Given the description of an element on the screen output the (x, y) to click on. 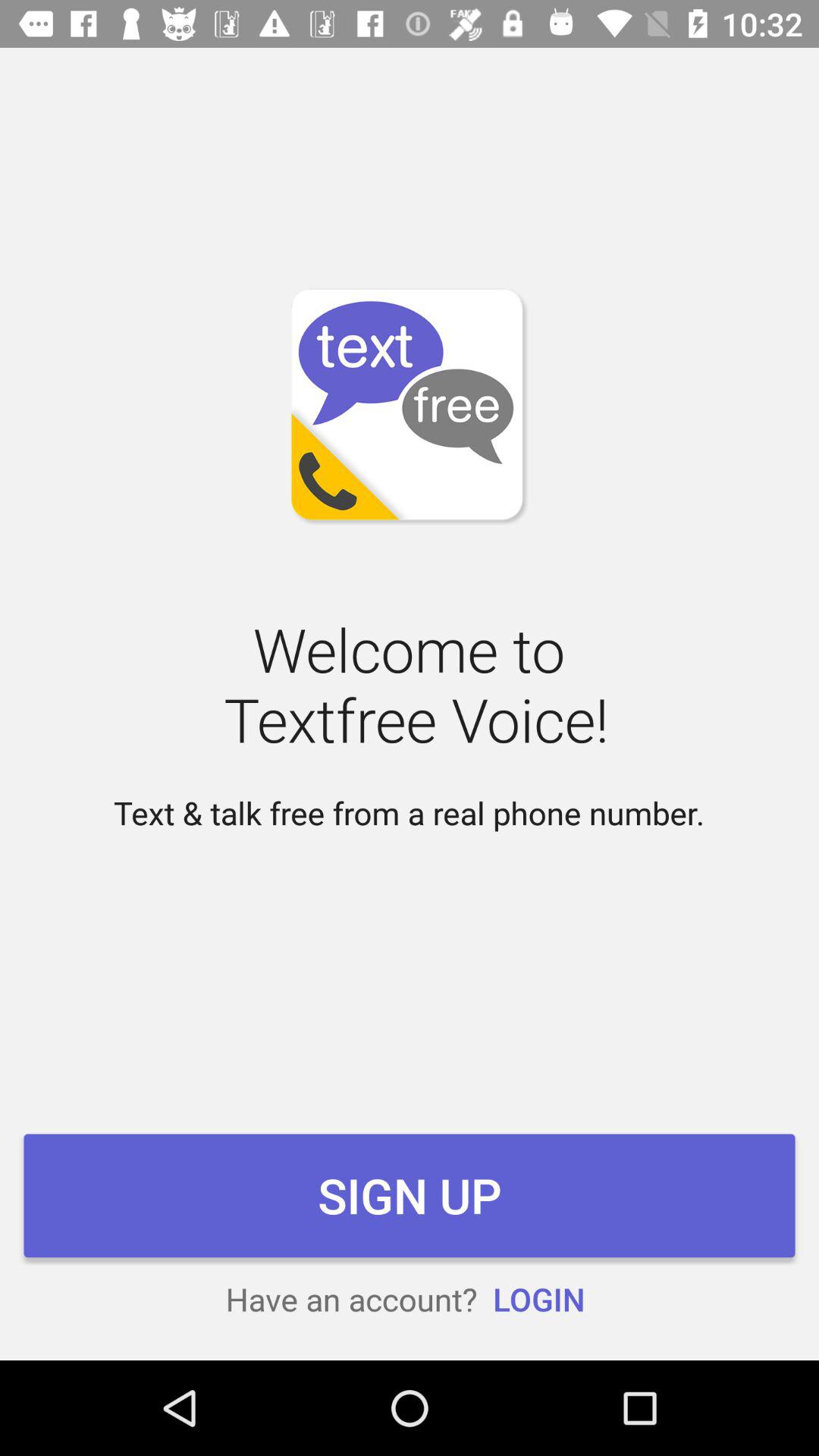
select the icon below the text talk free (409, 1195)
